Given the description of an element on the screen output the (x, y) to click on. 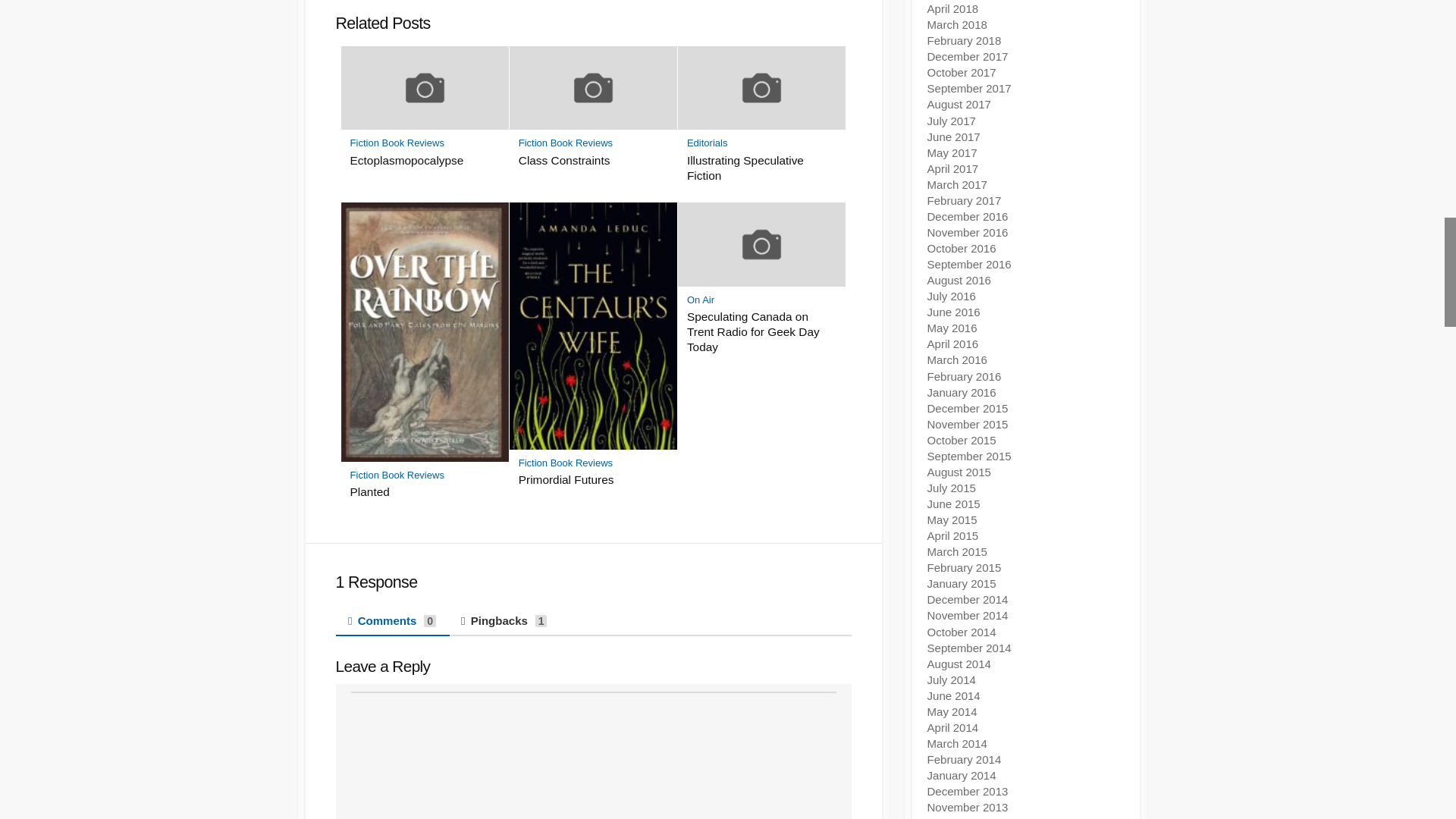
Comments 0 (391, 620)
Comment Form (592, 755)
Editorials (706, 142)
Ectoplasmopocalypse (425, 160)
Pingbacks 1 (504, 620)
Fiction Book Reviews (565, 142)
Fiction Book Reviews (397, 142)
Class Constraints (593, 160)
